Given the description of an element on the screen output the (x, y) to click on. 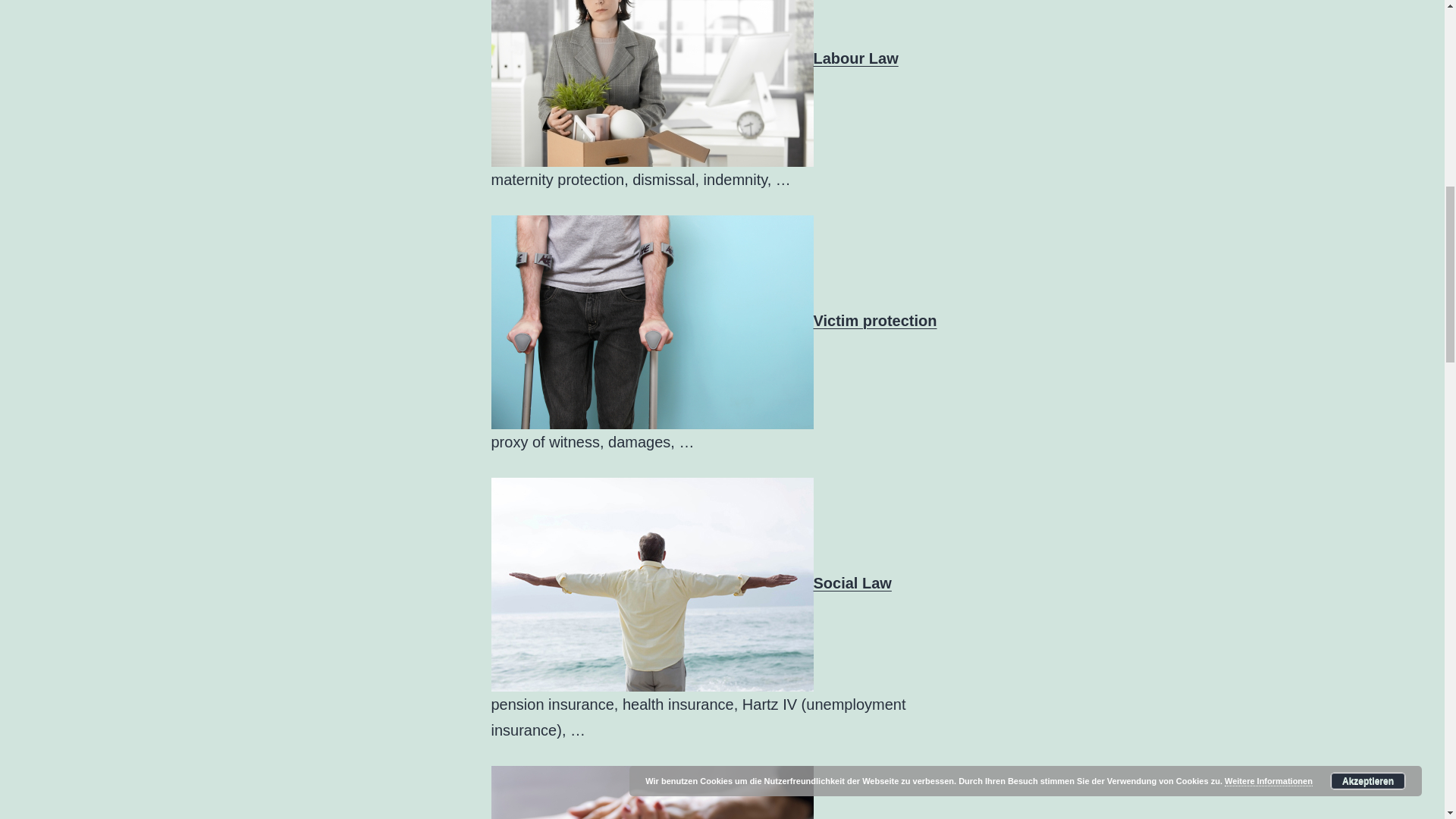
labour law (652, 83)
victim protection (652, 322)
social law (652, 584)
Social Law (851, 582)
Labour Law (855, 57)
Victim protection (874, 320)
trauma counseling (652, 792)
